Given the description of an element on the screen output the (x, y) to click on. 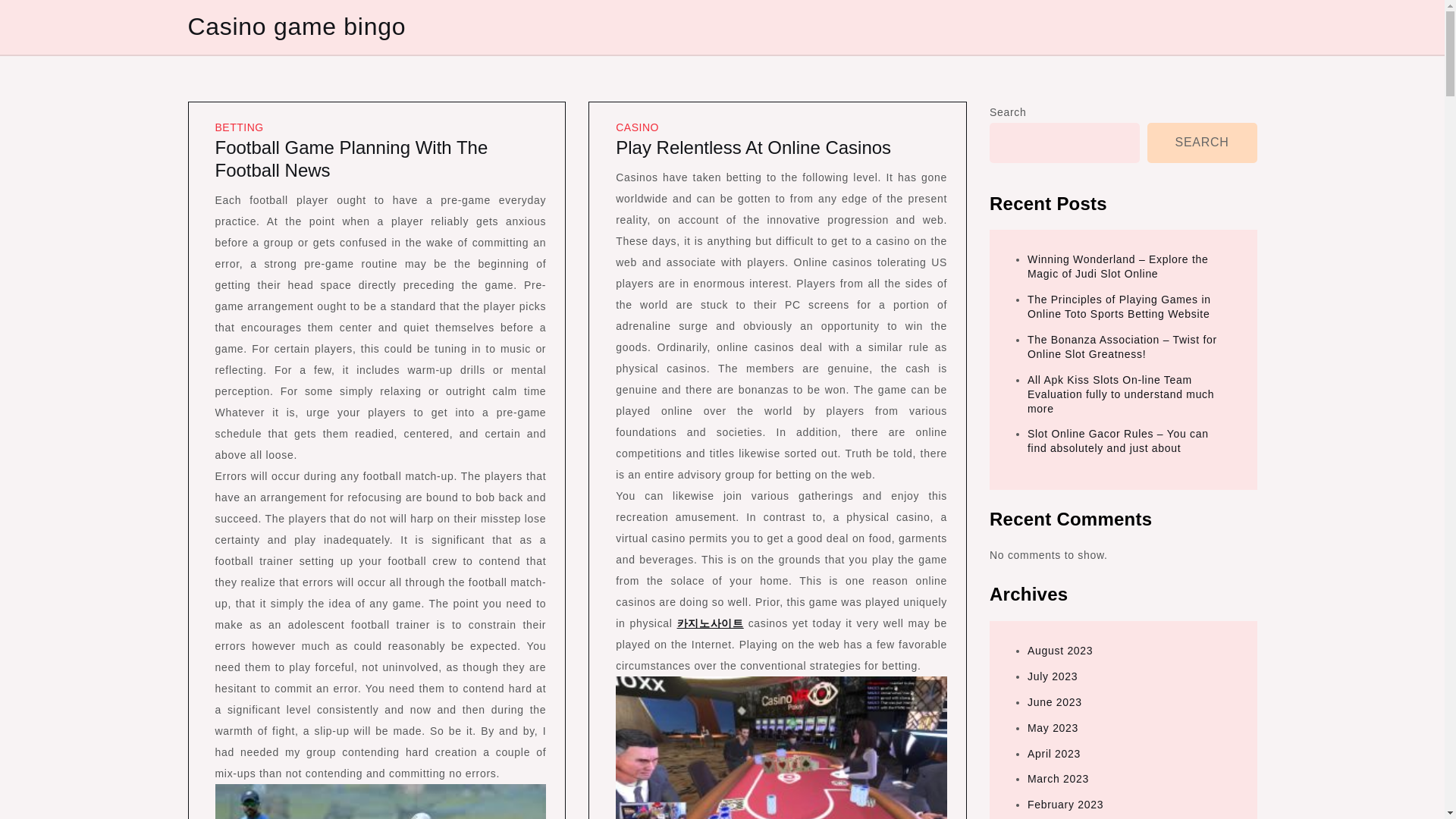
Play Relentless At Online Casinos (753, 147)
Casino game bingo (296, 26)
CASINO (637, 127)
BETTING (239, 127)
Football Game Planning With The Football News (351, 158)
